Given the description of an element on the screen output the (x, y) to click on. 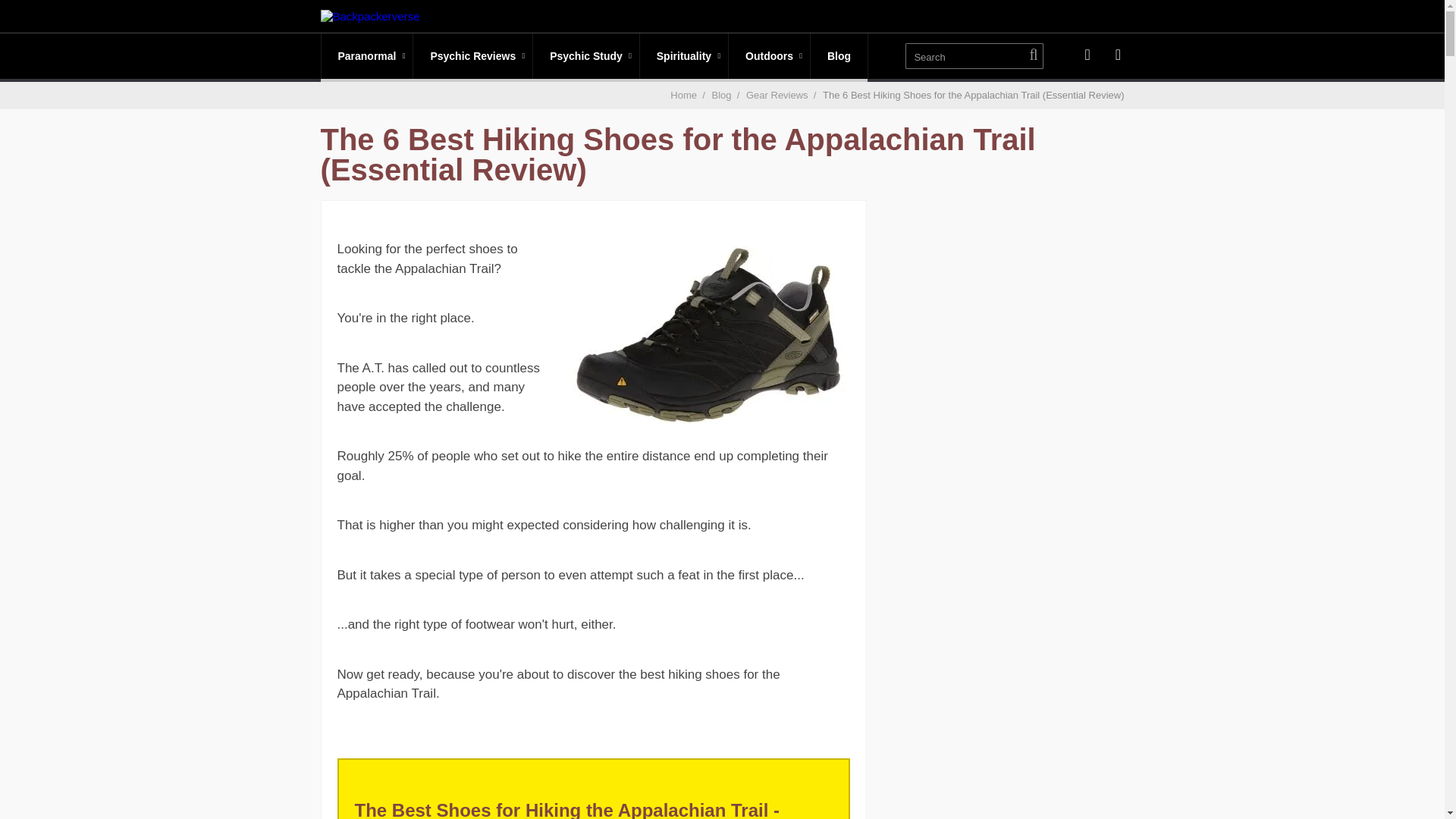
Psychic Study (585, 55)
Paranormal (367, 55)
Psychic Reviews (472, 55)
